Given the description of an element on the screen output the (x, y) to click on. 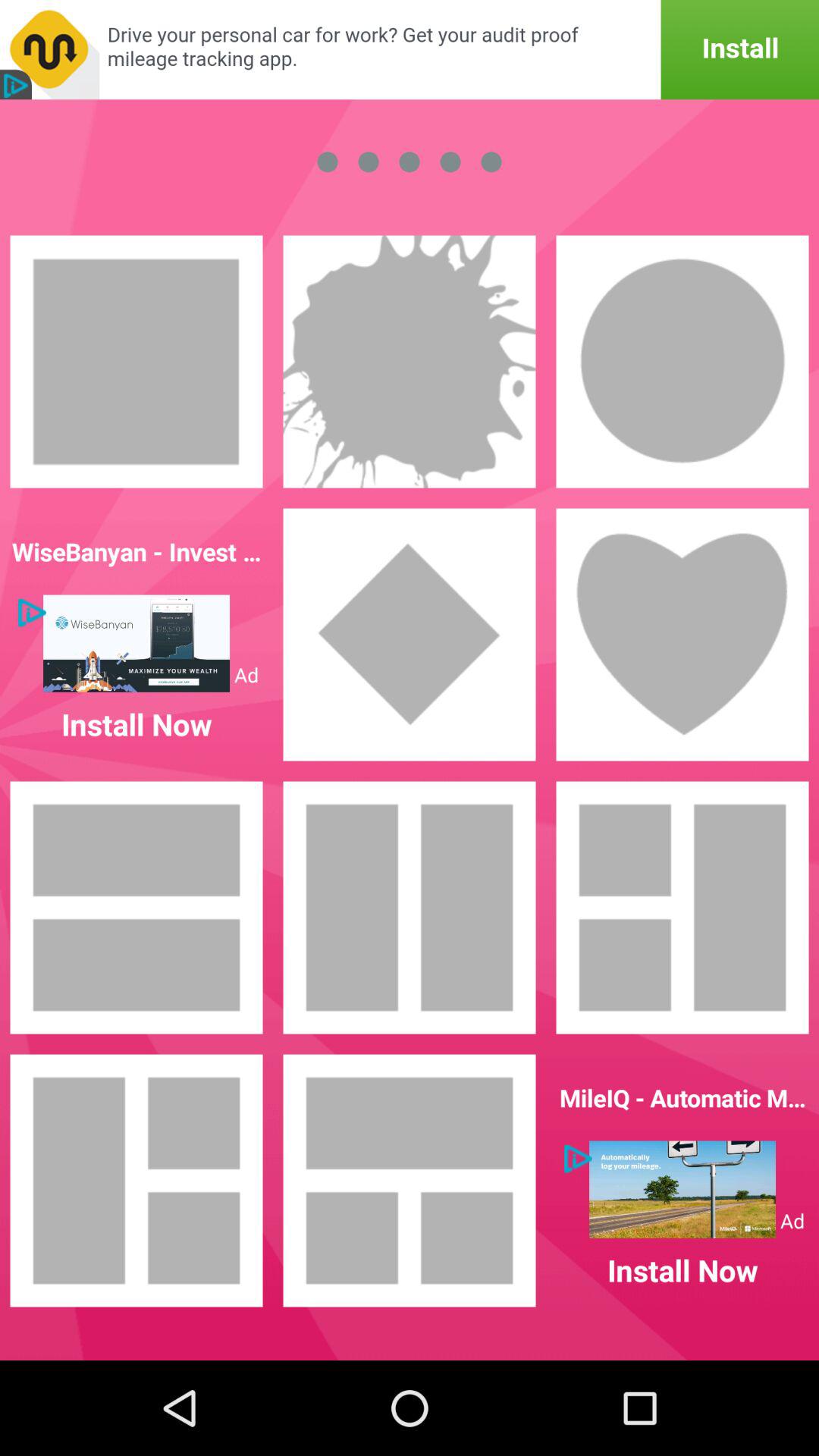
choose heart layout (682, 634)
